Given the description of an element on the screen output the (x, y) to click on. 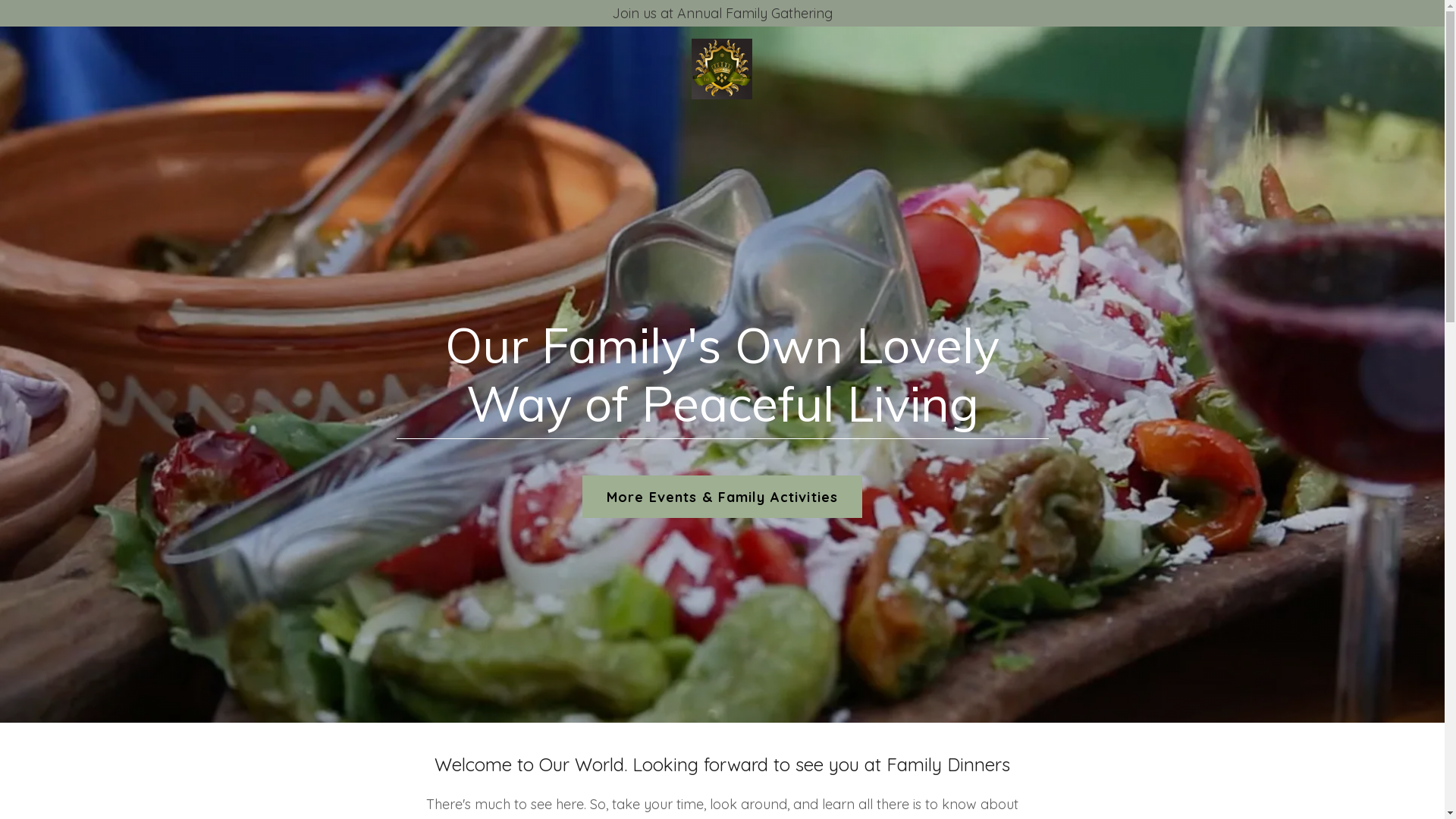
More Events & Family Activities Element type: text (722, 496)
